Given the description of an element on the screen output the (x, y) to click on. 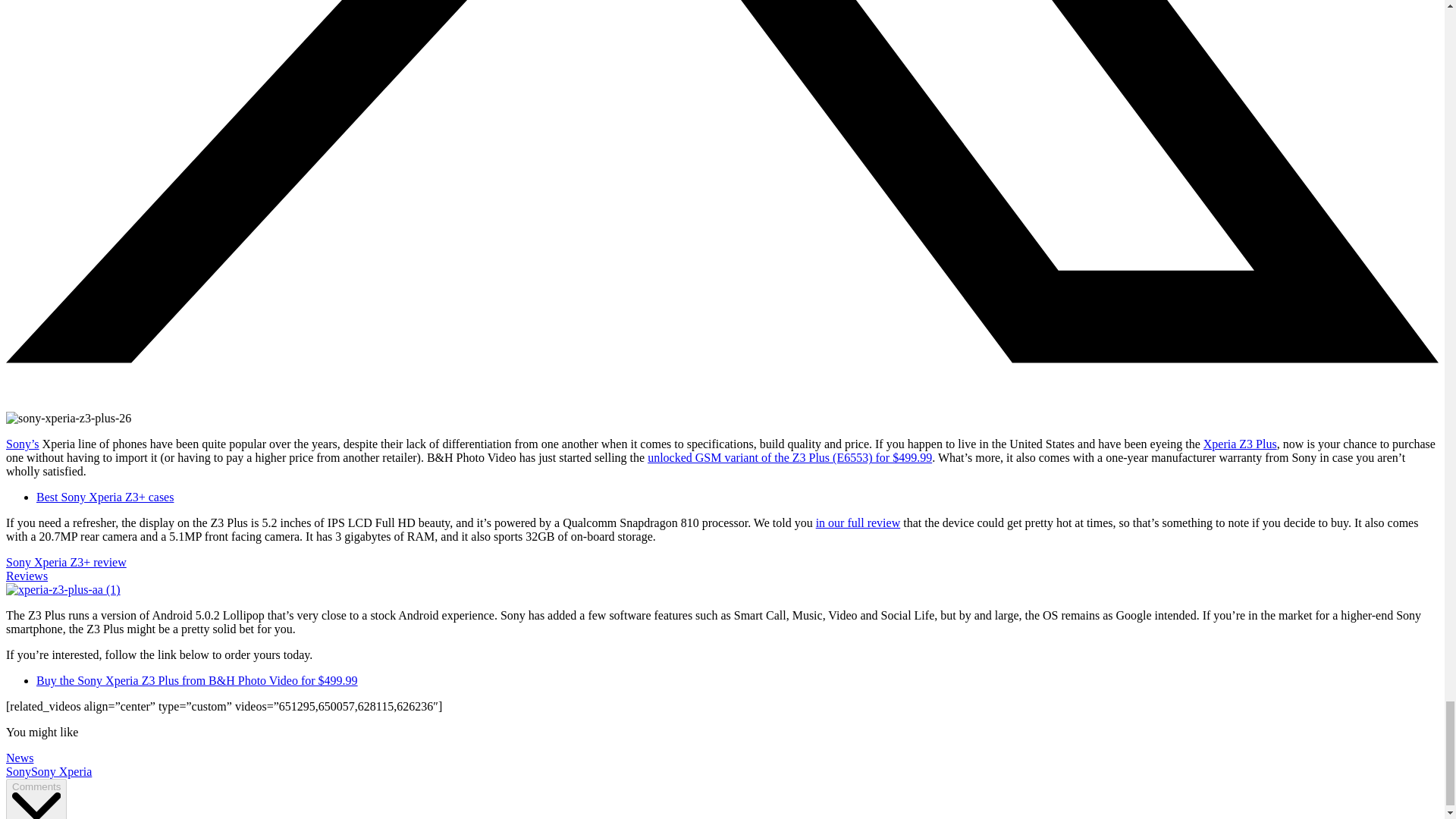
News (19, 757)
in our full review (858, 522)
Sony (17, 771)
Xperia Z3 Plus (1240, 443)
sony-xperia-z3-plus-26 (68, 418)
Sony Xperia (60, 771)
